Given the description of an element on the screen output the (x, y) to click on. 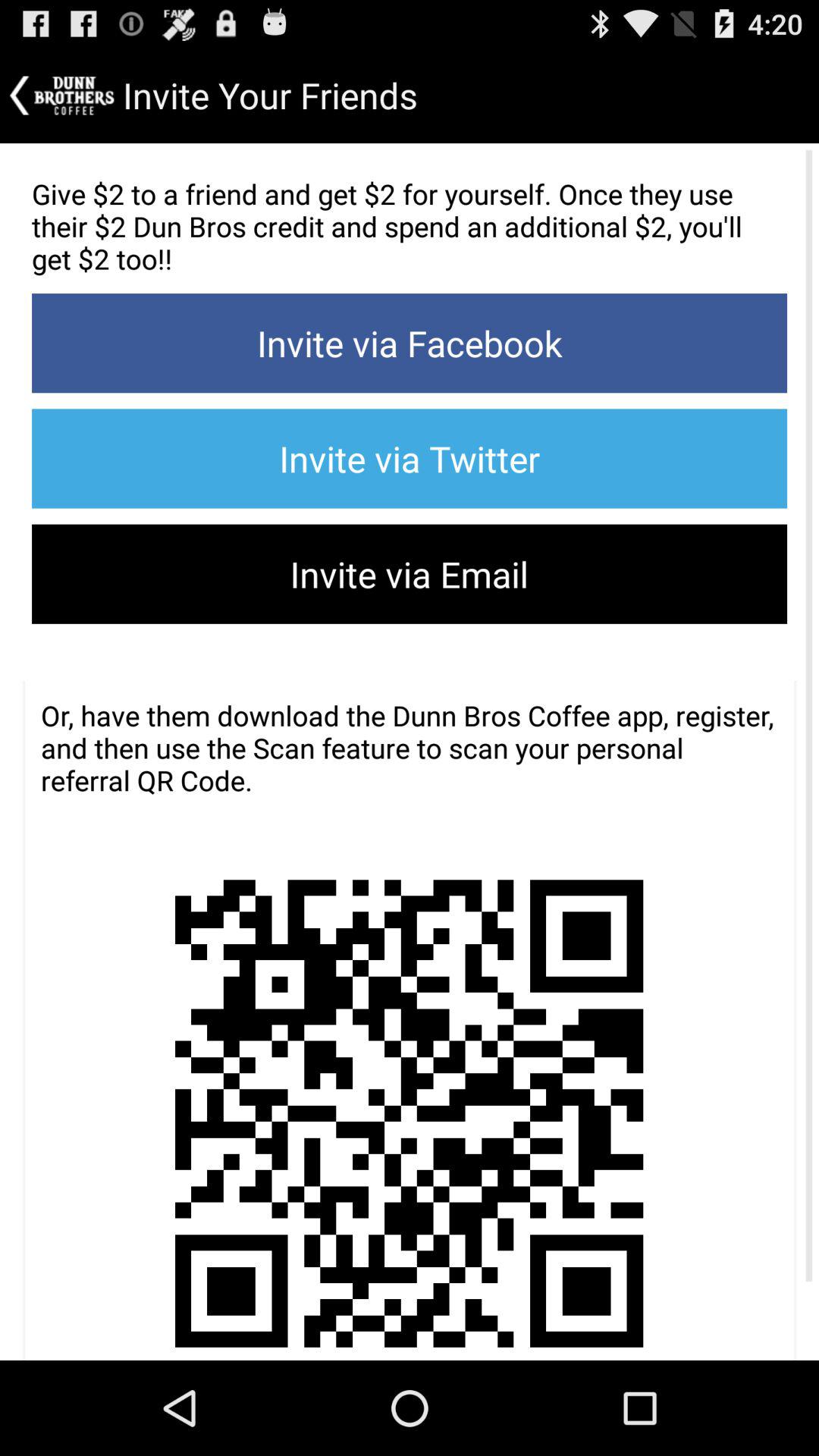
turn off the item at the bottom (408, 1087)
